Given the description of an element on the screen output the (x, y) to click on. 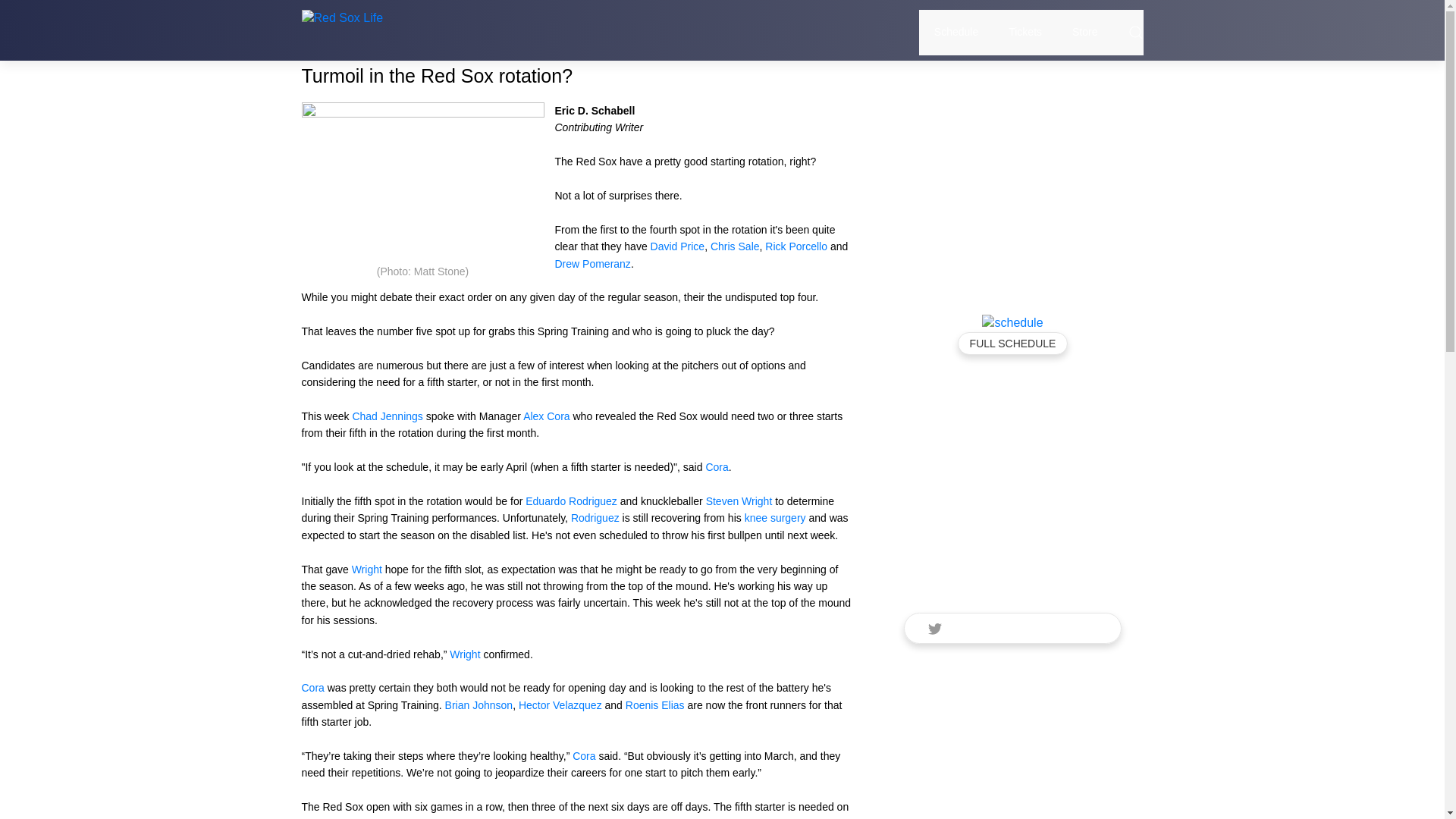
Chris Sale (735, 246)
Wright (600, 818)
FULL SCHEDULE (1013, 343)
Rick Porcello (796, 246)
Cora (716, 467)
Cora (583, 756)
Advertisement (1012, 185)
Wright (464, 653)
Schedule (956, 32)
Hector Velazquez (560, 705)
Wright (366, 569)
Rodriguez (664, 818)
Brian Johnson (479, 705)
Cora (312, 687)
Chad Jennings (387, 416)
